Given the description of an element on the screen output the (x, y) to click on. 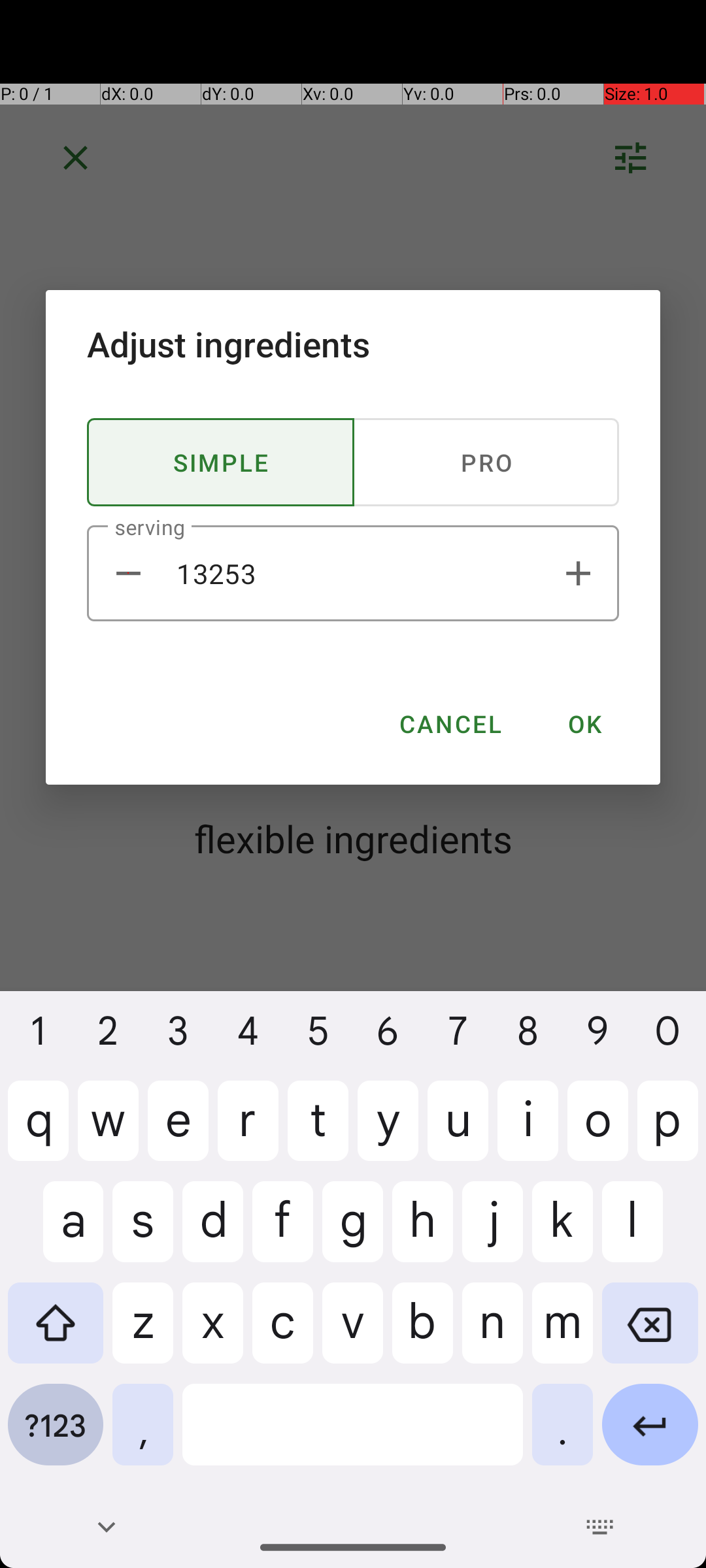
13253 Element type: android.widget.EditText (352, 573)
